Given the description of an element on the screen output the (x, y) to click on. 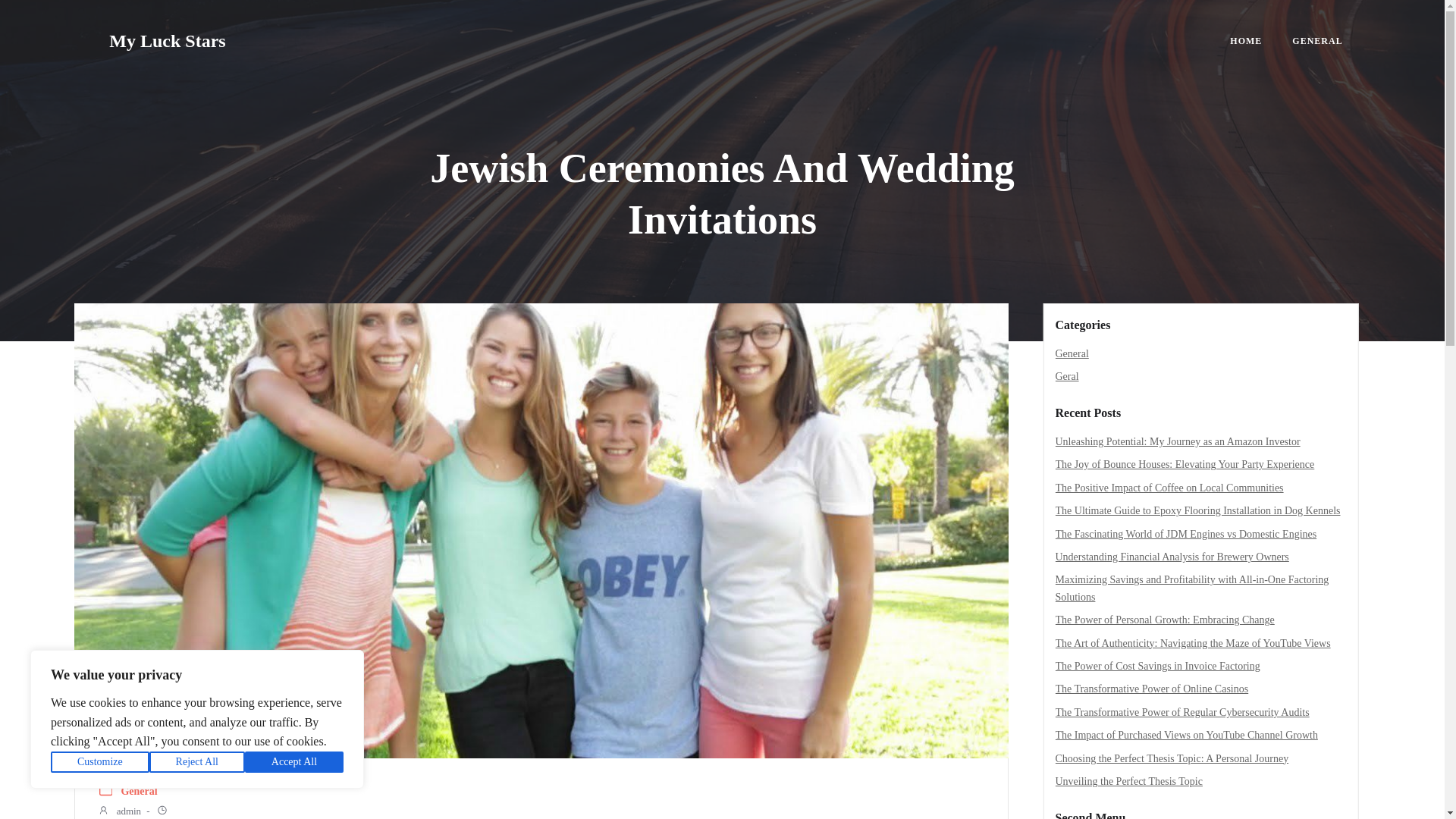
The Joy of Bounce Houses: Elevating Your Party Experience (1184, 464)
Accept All (293, 762)
Geral (1066, 376)
The Positive Impact of Coffee on Local Communities (1169, 487)
Unleashing Potential: My Journey as an Amazon Investor (1177, 441)
My Luck Stars (167, 40)
Reject All (196, 762)
HOME (1246, 40)
General (138, 791)
admin (119, 811)
Customize (99, 762)
GENERAL (1317, 40)
General (1072, 353)
